Given the description of an element on the screen output the (x, y) to click on. 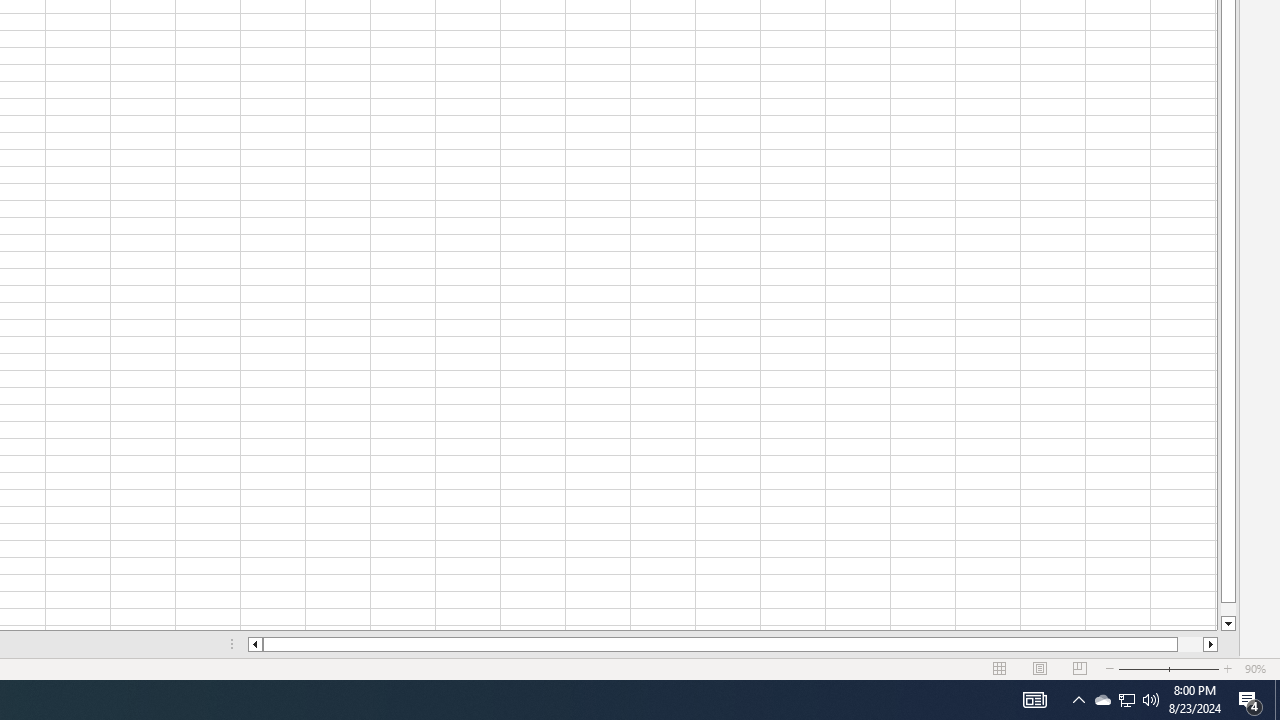
Page Layout (1039, 668)
Page Break Preview (1079, 668)
Zoom (1168, 668)
Line down (1227, 624)
Class: NetUIScrollBar (732, 644)
Normal (1000, 668)
Column right (1211, 644)
Page right (1190, 644)
Page down (1227, 609)
Zoom Out (1140, 668)
Zoom In (1227, 668)
Column left (253, 644)
